Given the description of an element on the screen output the (x, y) to click on. 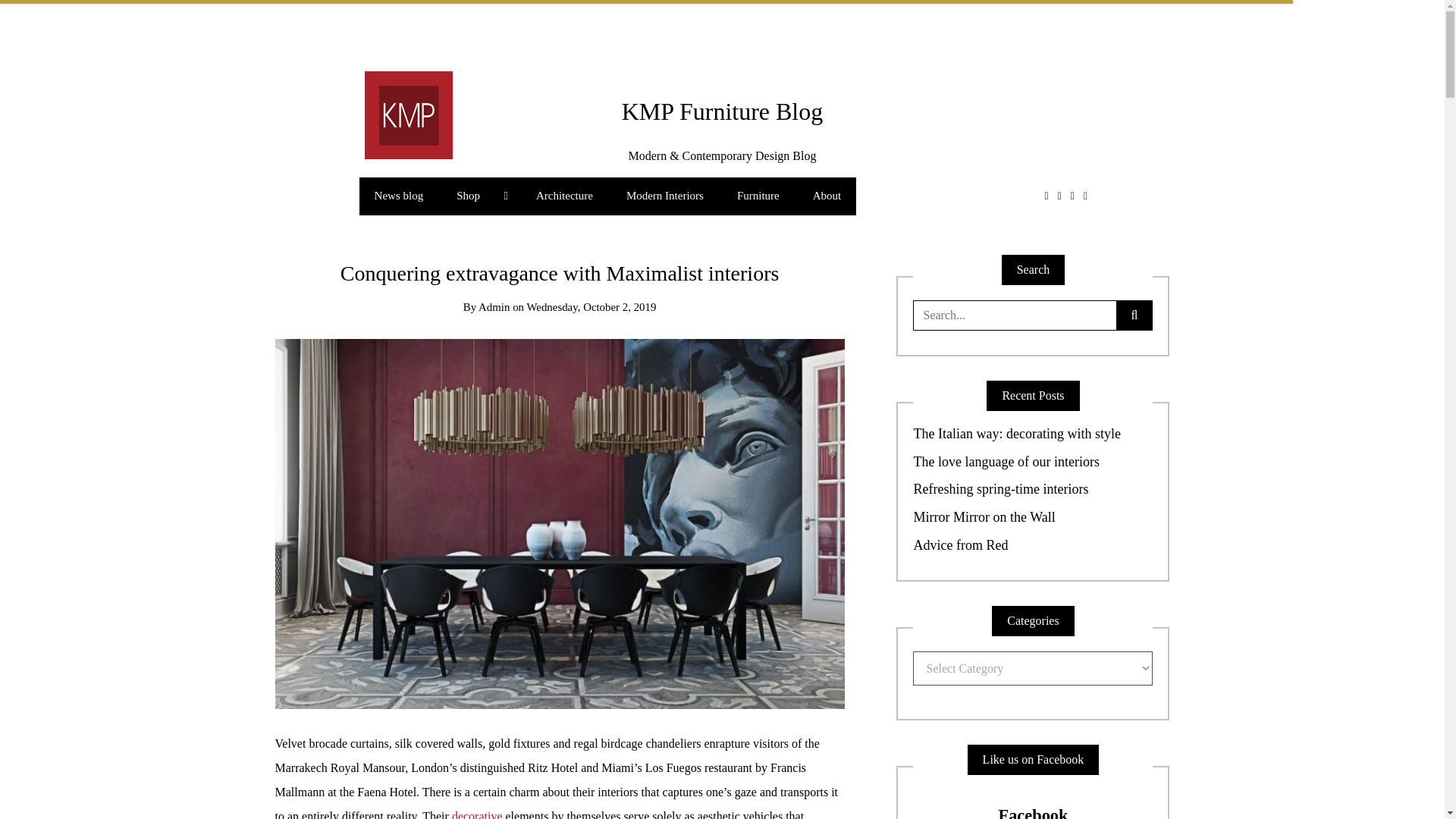
Admin (494, 306)
News blog (399, 196)
Furniture (758, 196)
decorative (476, 814)
Posts by admin (494, 306)
KMP Furniture Blog (722, 111)
Wednesday, October 2, 2019 (590, 306)
About (826, 196)
Shop (479, 196)
